Given the description of an element on the screen output the (x, y) to click on. 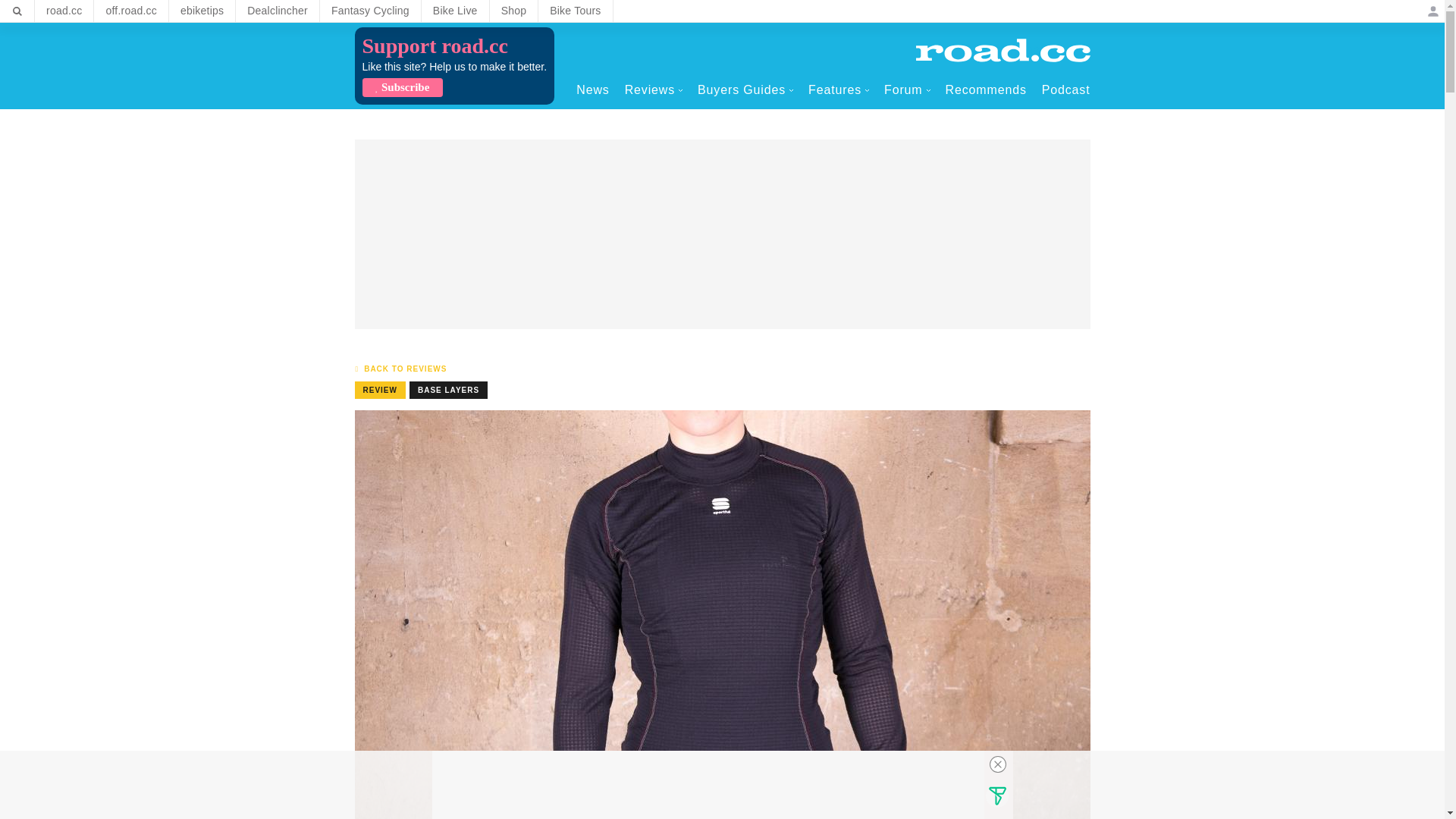
Fantasy Cycling (370, 11)
ebiketips (201, 11)
Subscribe (402, 87)
Dealclincher (276, 11)
Bike Live (455, 11)
road.cc (63, 11)
Shop (513, 11)
Home (1002, 50)
Reviews (653, 89)
off.road.cc (131, 11)
Bike Tours (574, 11)
